Given the description of an element on the screen output the (x, y) to click on. 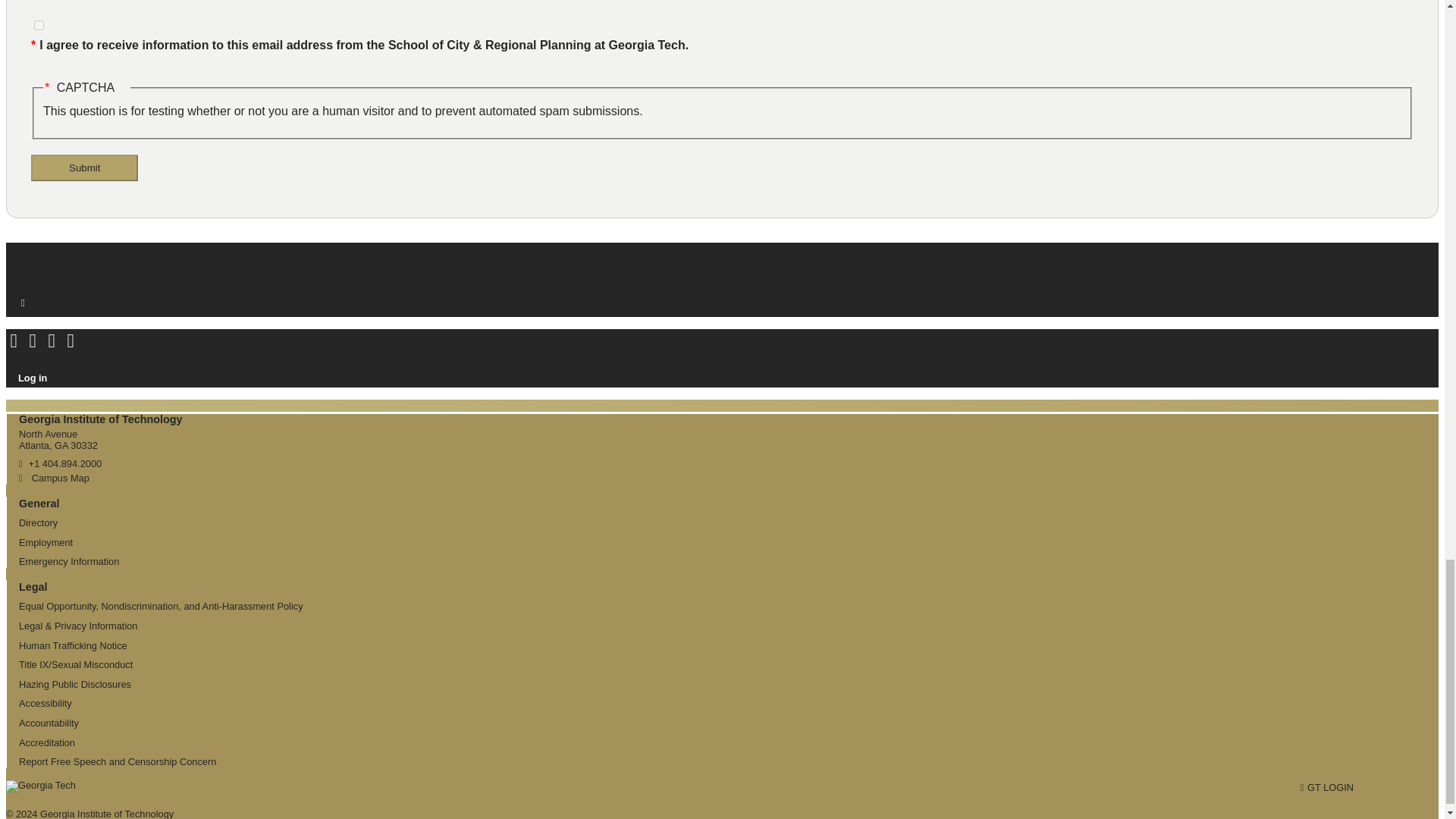
Georgia Human Trafficking Resources (73, 645)
Georgia Institute of Technology Emergency Information (68, 561)
Georgia Institute of Technology Employment (45, 542)
Submit (84, 167)
Legal Main Menu Category (33, 586)
Georgia Institute of Technology Accessibility Resources (44, 703)
Georgia Institute of Technology Accountability Resources (48, 722)
1 (38, 25)
Georgia Institute of Technology Accreditation (46, 742)
Georgia Institute of Technology Directory (38, 522)
Georgia Tech Hazing Conduct History (74, 684)
Georgia Tech (40, 790)
General Main Menu Category (38, 503)
